Given the description of an element on the screen output the (x, y) to click on. 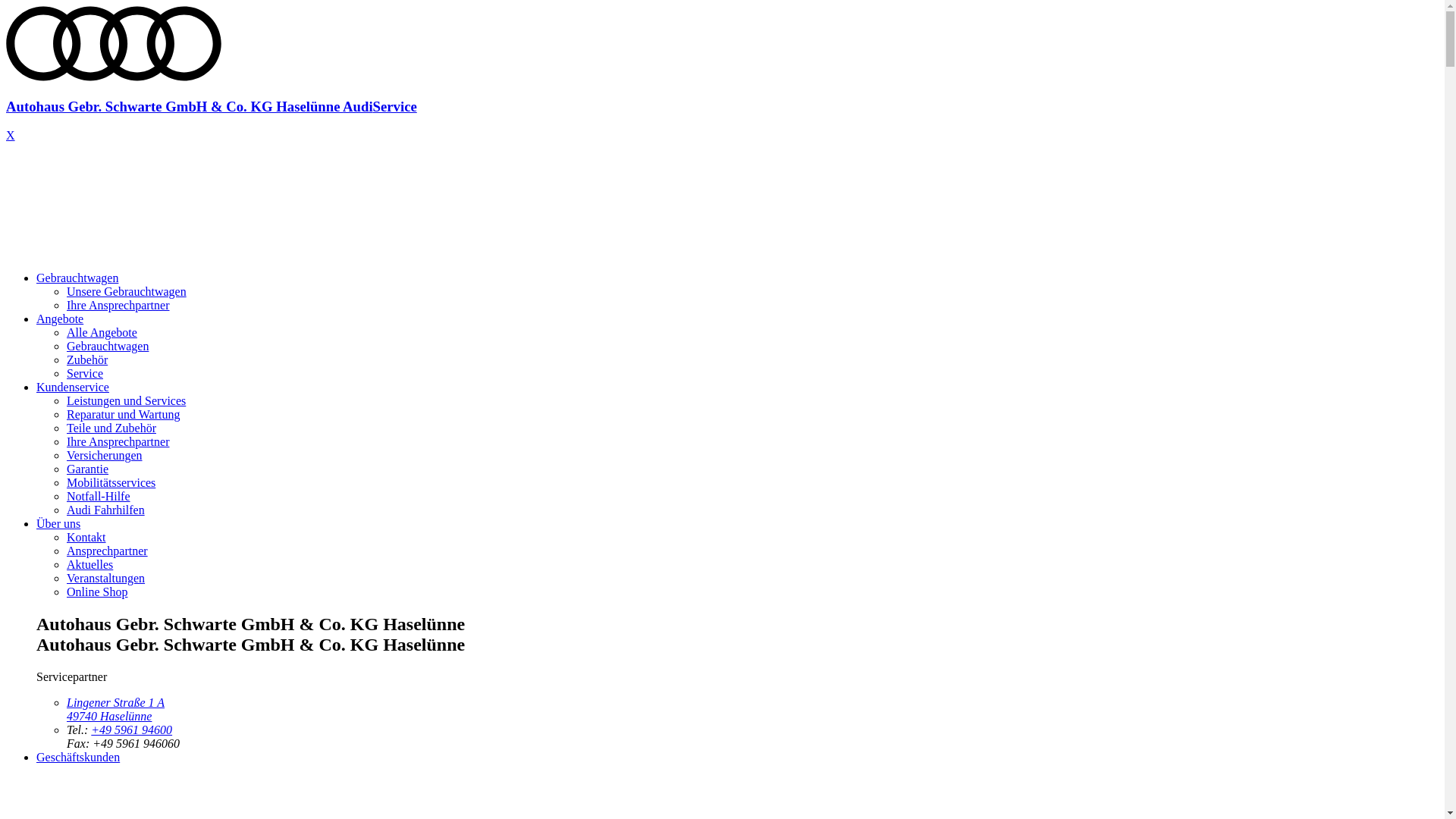
Service Element type: text (84, 373)
Versicherungen Element type: text (104, 454)
Aktuelles Element type: text (89, 564)
Notfall-Hilfe Element type: text (98, 495)
Reparatur und Wartung Element type: text (122, 413)
Online Shop Element type: text (96, 591)
Ansprechpartner Element type: text (106, 550)
Gebrauchtwagen Element type: text (107, 345)
+49 5961 94600 Element type: text (131, 729)
Gebrauchtwagen Element type: text (77, 277)
Leistungen und Services Element type: text (125, 400)
X Element type: text (10, 134)
Ihre Ansprechpartner Element type: text (117, 441)
Alle Angebote Element type: text (101, 332)
Garantie Element type: text (87, 468)
Ihre Ansprechpartner Element type: text (117, 304)
Veranstaltungen Element type: text (105, 577)
Angebote Element type: text (59, 318)
Kontakt Element type: text (86, 536)
Audi Fahrhilfen Element type: text (105, 509)
Kundenservice Element type: text (72, 386)
Unsere Gebrauchtwagen Element type: text (126, 291)
